Given the description of an element on the screen output the (x, y) to click on. 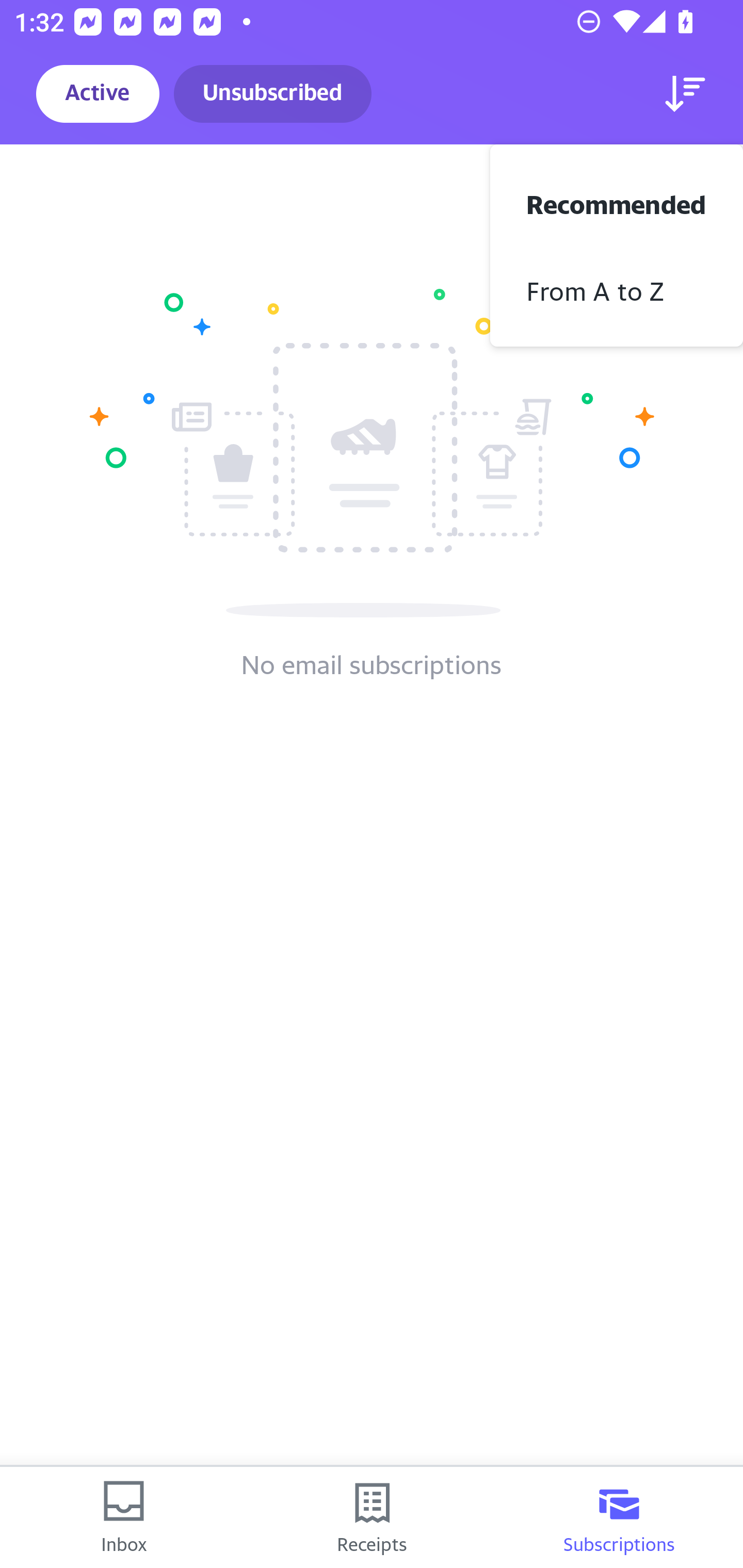
Recommended (616, 202)
From A to Z (616, 289)
